Given the description of an element on the screen output the (x, y) to click on. 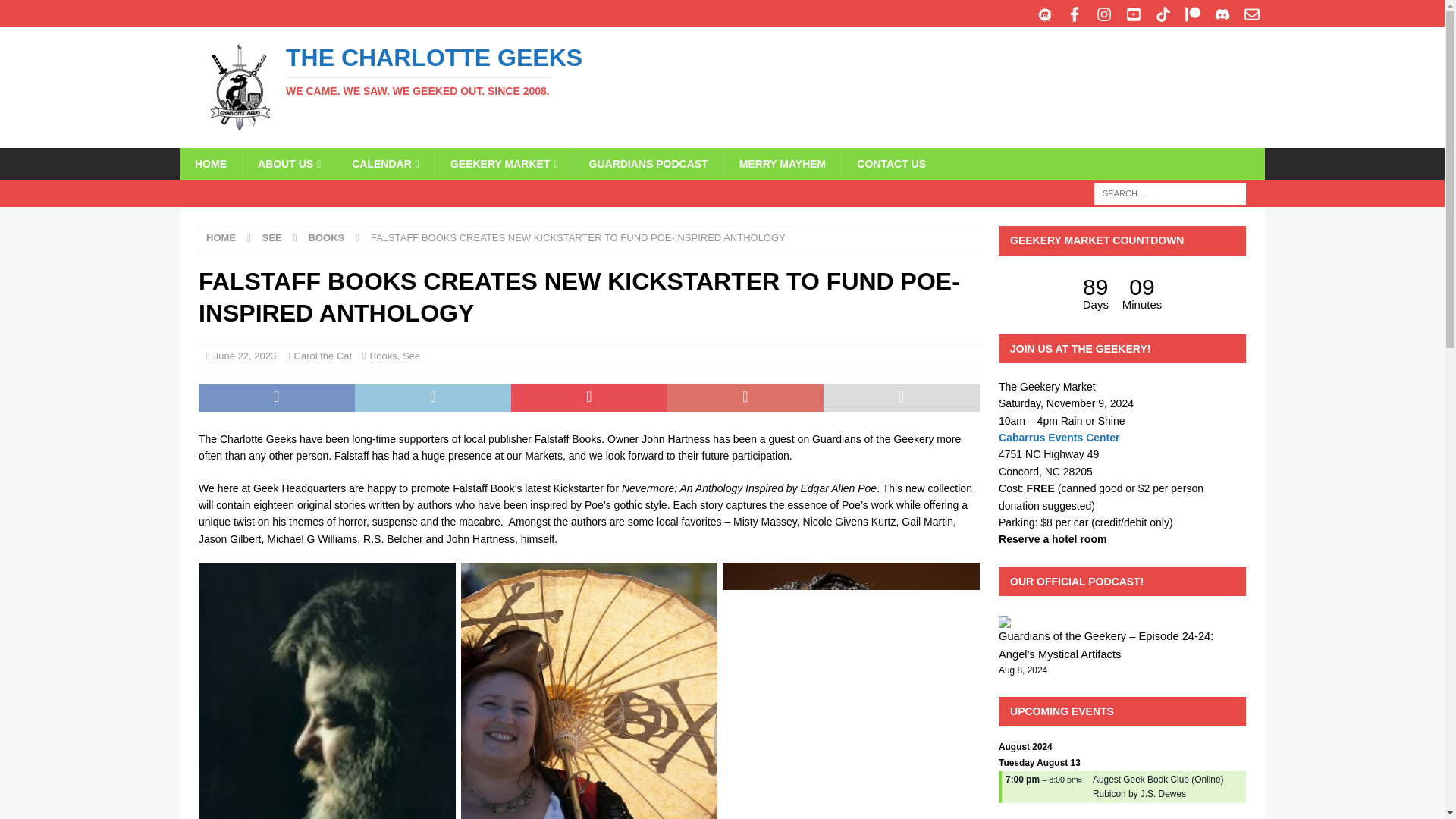
ABOUT US (288, 164)
MERRY MAYHEM (782, 163)
tiktok (1163, 14)
Carol the Cat (323, 355)
SEE (272, 237)
HOME (220, 237)
facebook (1074, 14)
June 22, 2023 (245, 355)
discord (1222, 14)
